Given the description of an element on the screen output the (x, y) to click on. 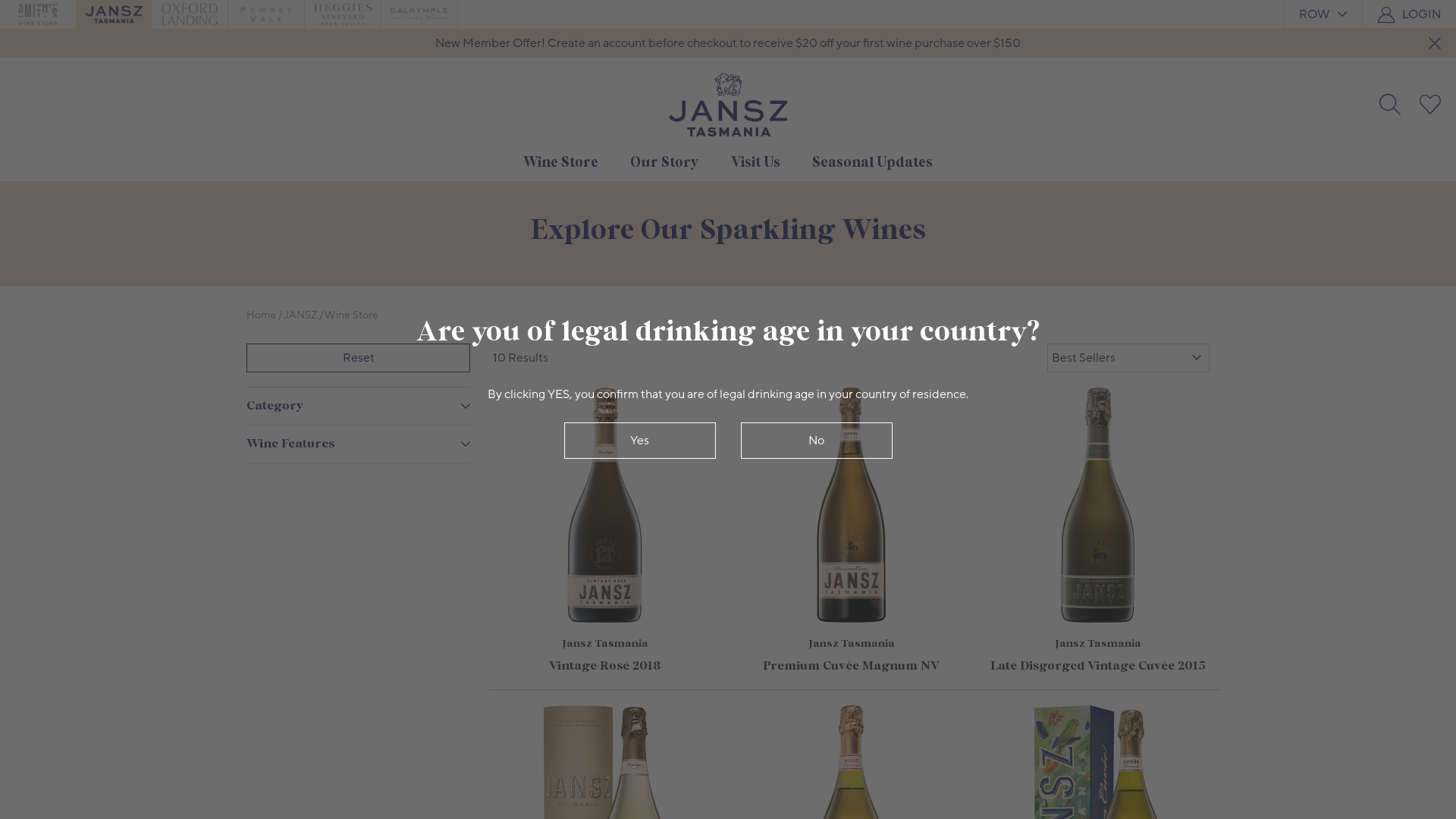
Oxford Landing Element type: hover (189, 14)
Heggies Vineyard Element type: hover (342, 14)
No Element type: text (815, 439)
Pewsey Vale Vineyard Element type: hover (265, 14)
Seasonal Updates Element type: text (872, 162)
Visit Us Element type: text (755, 162)
Oxford Landing Element type: hover (189, 14)
Wine Store Element type: text (351, 315)
Jansz Tasmania Element type: hover (113, 14)
Reset Element type: text (358, 357)
Smiths Wine Store Element type: hover (37, 14)
Pewsey Vale Vineyard Element type: hover (265, 14)
LOGIN Element type: text (1421, 14)
Home Element type: text (261, 315)
Jansz Tasmania Element type: hover (113, 14)
Wine Store Element type: text (560, 162)
Heggies Vineyard Element type: hover (342, 14)
Dalrymple Vineyards Element type: hover (419, 14)
Dalrymple Vineyards Element type: hover (419, 14)
Our Story Element type: text (664, 162)
JANSZ Element type: text (299, 315)
Yes Element type: text (639, 439)
Smiths Wine Store Element type: hover (37, 14)
